Given the description of an element on the screen output the (x, y) to click on. 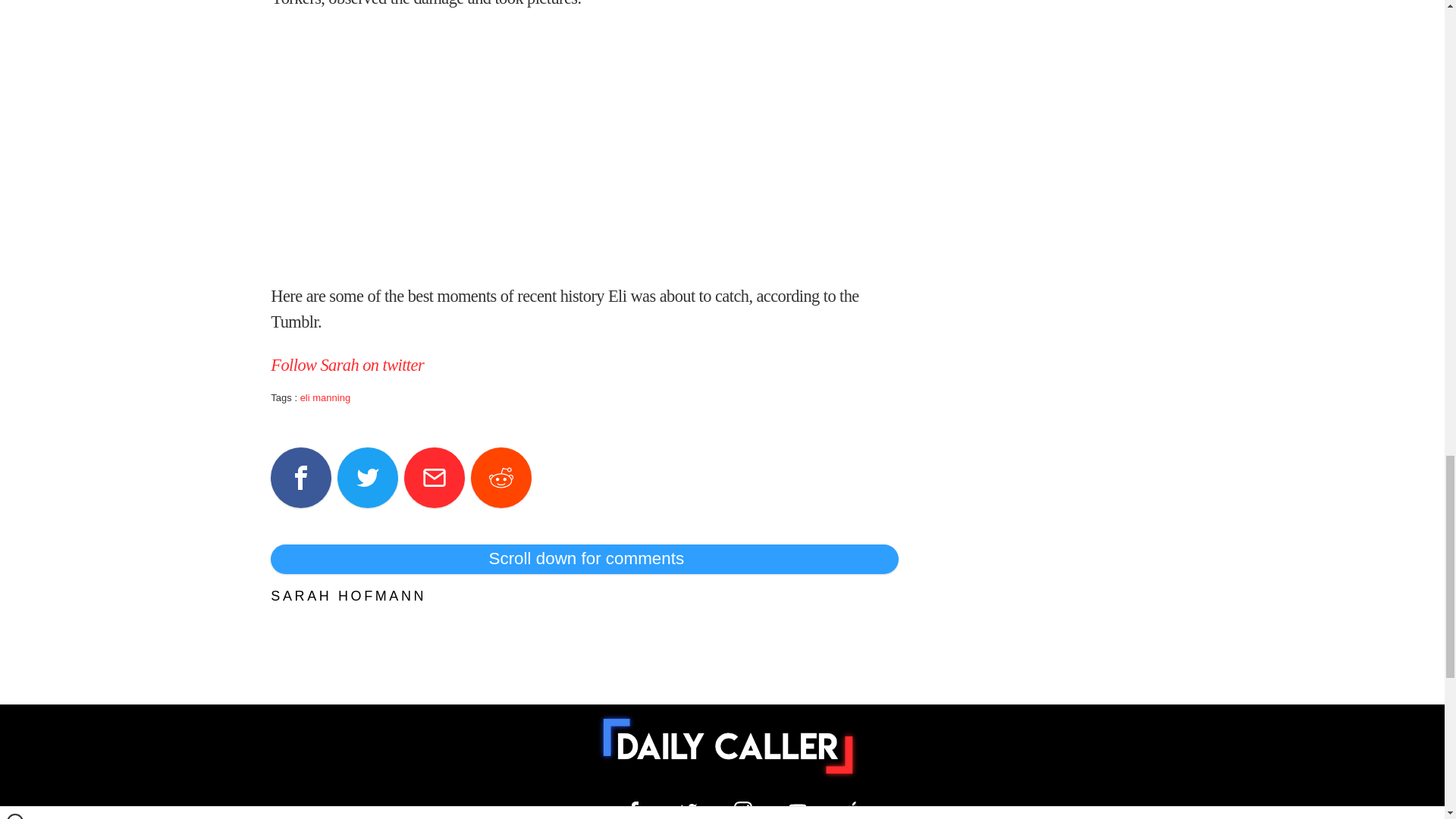
Daily Caller YouTube (852, 810)
Daily Caller Twitter (688, 810)
Scroll down for comments (584, 558)
Daily Caller Instagram (742, 810)
Daily Caller Facebook (633, 810)
Follow Sarah on twitter (346, 364)
Daily Caller YouTube (797, 810)
To home page (727, 746)
